Given the description of an element on the screen output the (x, y) to click on. 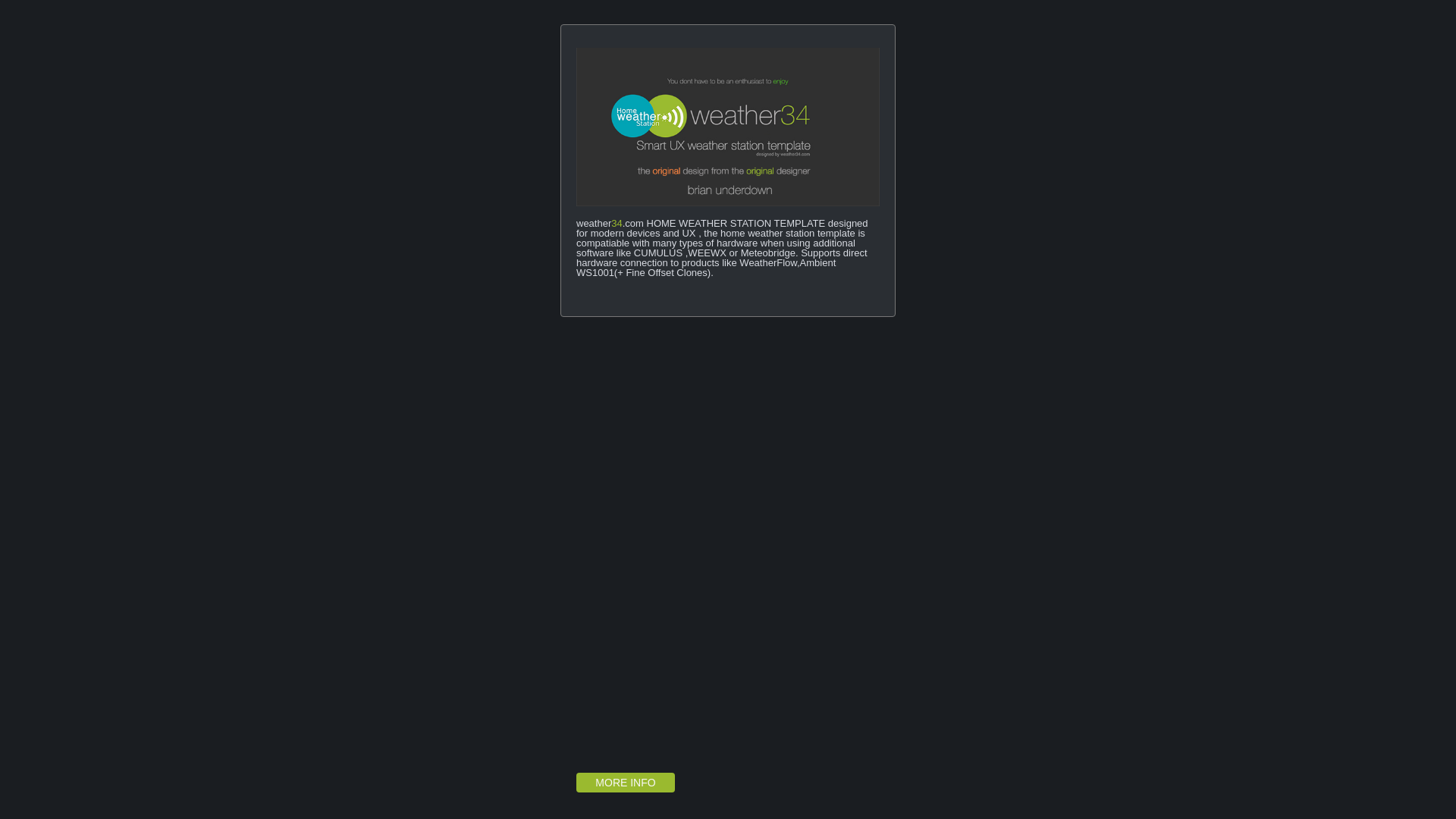
MORE INFO Element type: text (625, 782)
MORE INFO Element type: text (625, 782)
